Given the description of an element on the screen output the (x, y) to click on. 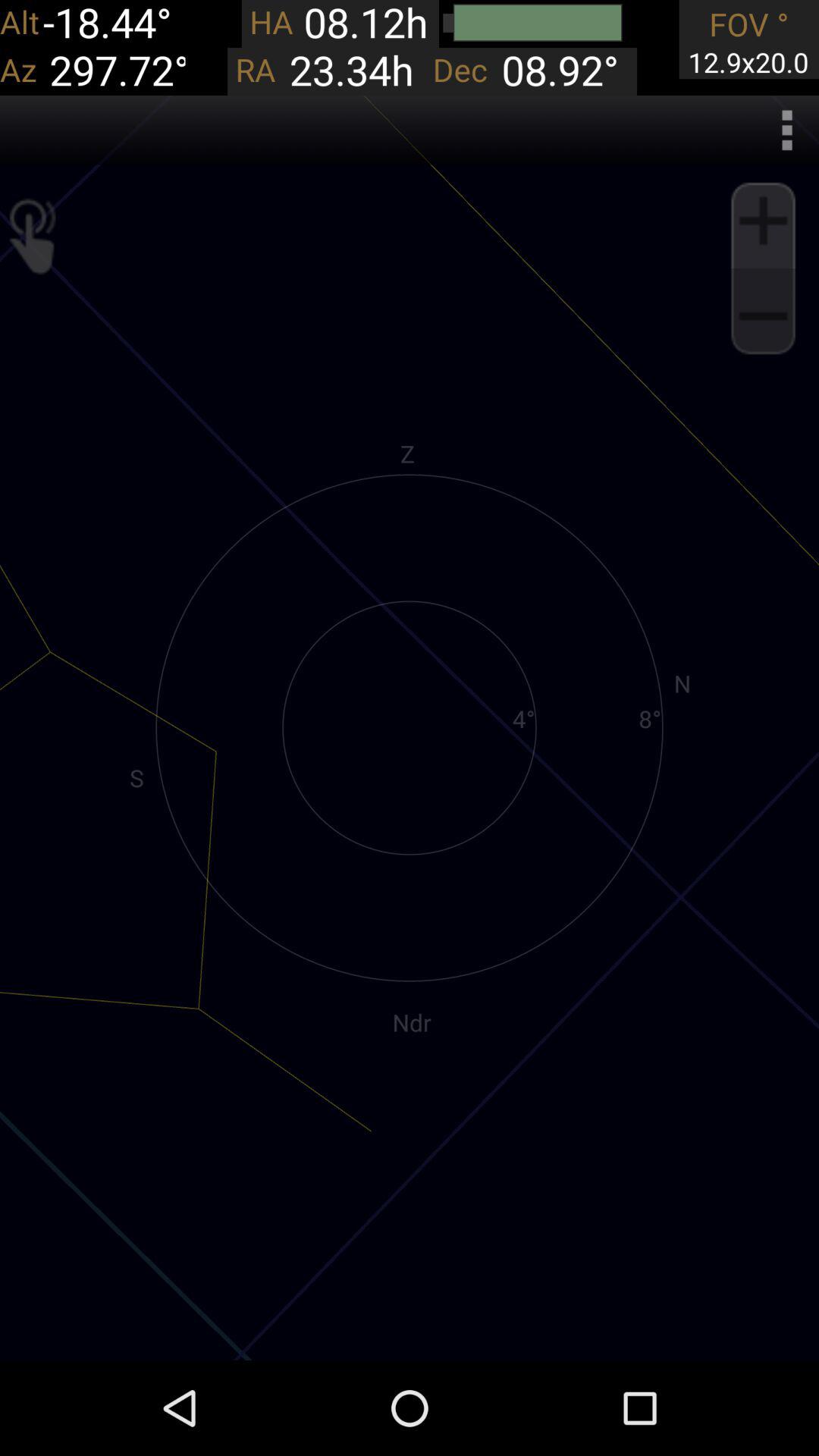
skeye options (787, 130)
